Given the description of an element on the screen output the (x, y) to click on. 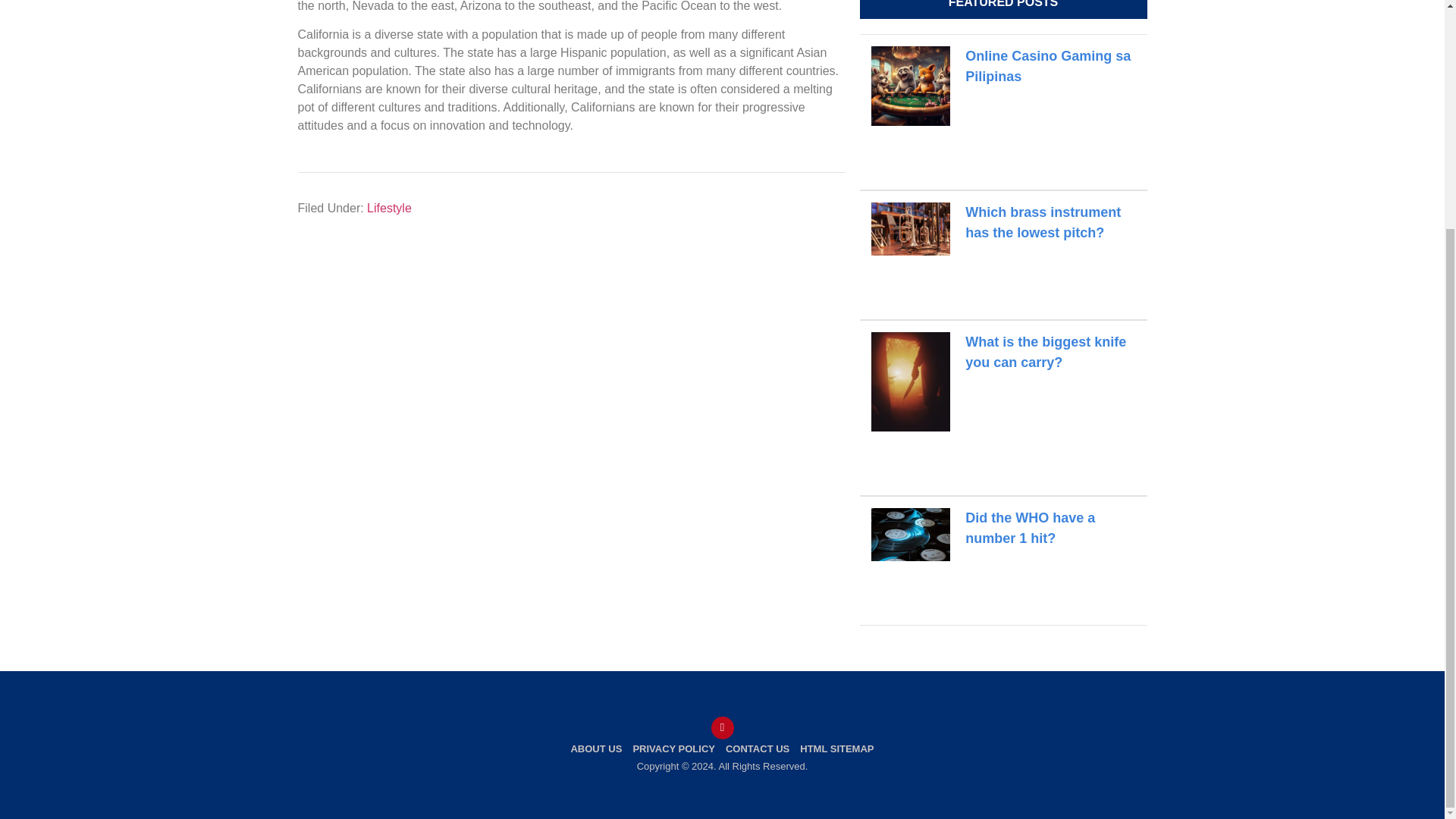
Which brass instrument has the lowest pitch? (1043, 222)
PRIVACY POLICY (673, 749)
Online Casino Gaming sa Pilipinas (1048, 66)
CONTACT US (757, 749)
What is the biggest knife you can carry? (1045, 352)
HTML SITEMAP (836, 749)
ABOUT US (595, 749)
Did the WHO have a number 1 hit? (1029, 528)
Lifestyle (389, 207)
